Given the description of an element on the screen output the (x, y) to click on. 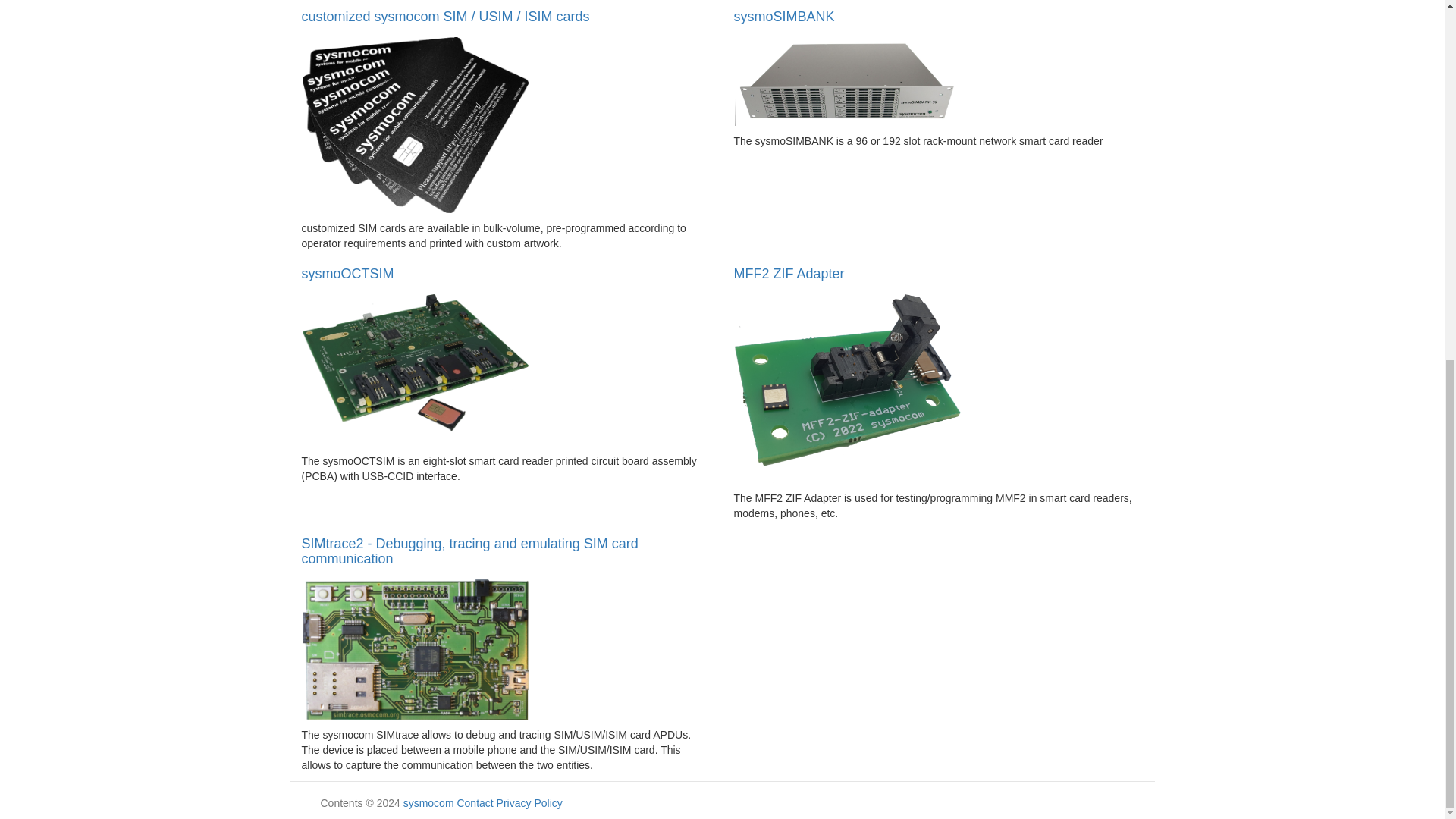
Privacy Policy (529, 802)
Contact (475, 802)
MFF2 ZIF Adapter (788, 273)
sysmoSIMBANK (783, 16)
sysmoOCTSIM (347, 273)
sysmocom (428, 802)
